Given the description of an element on the screen output the (x, y) to click on. 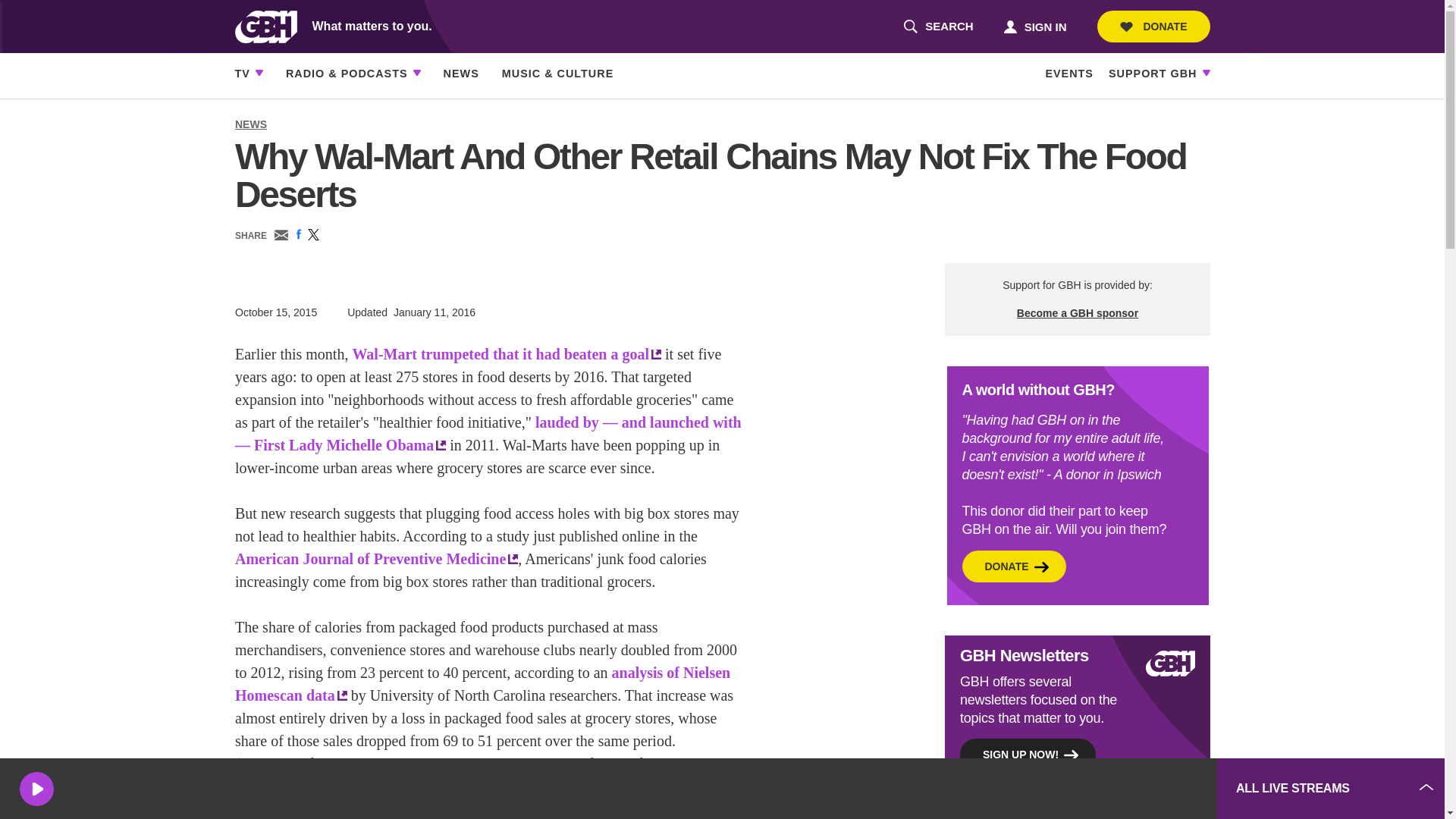
DONATE (1153, 26)
SIGN IN (937, 26)
